Given the description of an element on the screen output the (x, y) to click on. 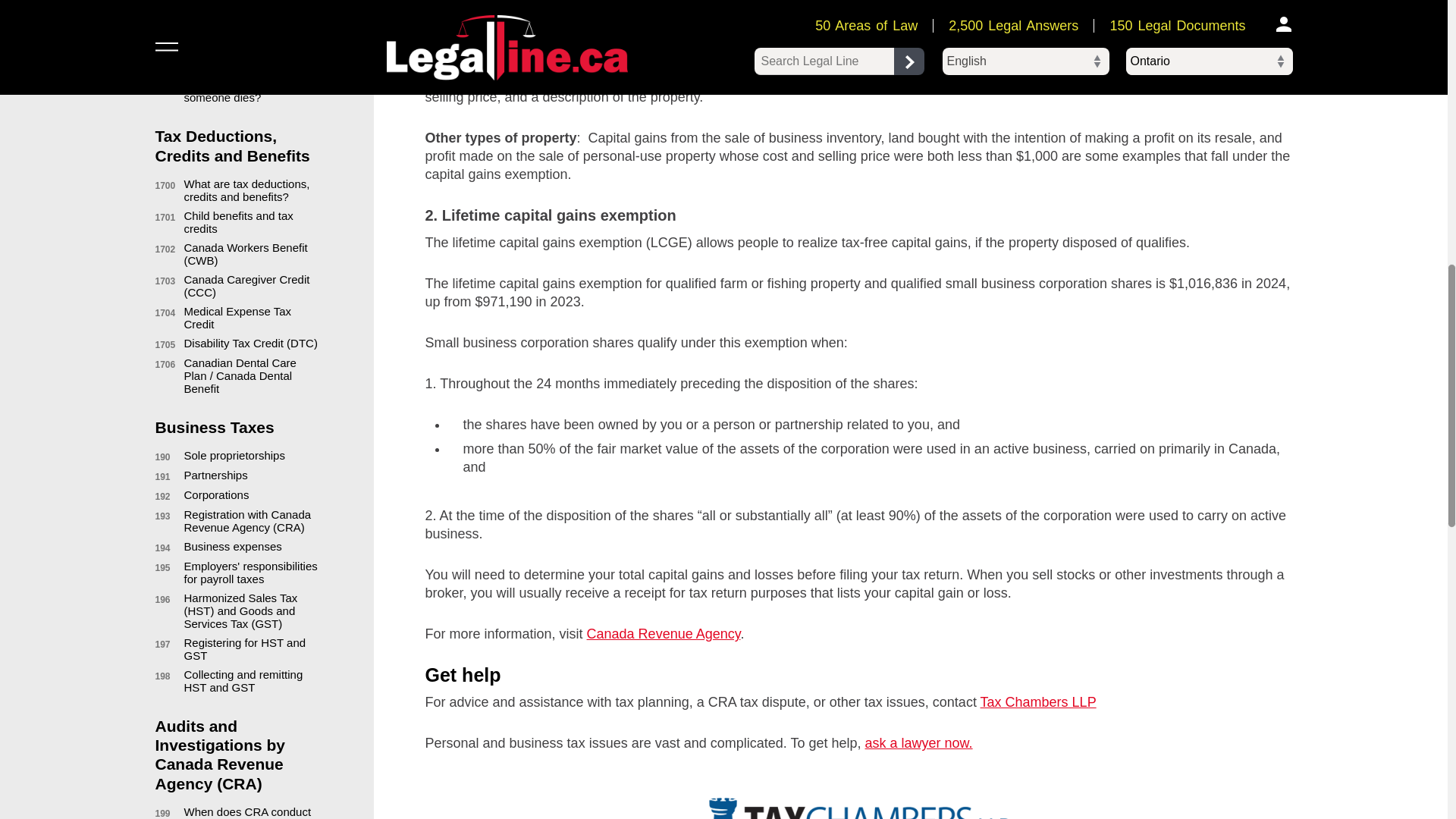
Tax Chambers Tax Law Ontario All Topics Sept 2017 (858, 806)
